Given the description of an element on the screen output the (x, y) to click on. 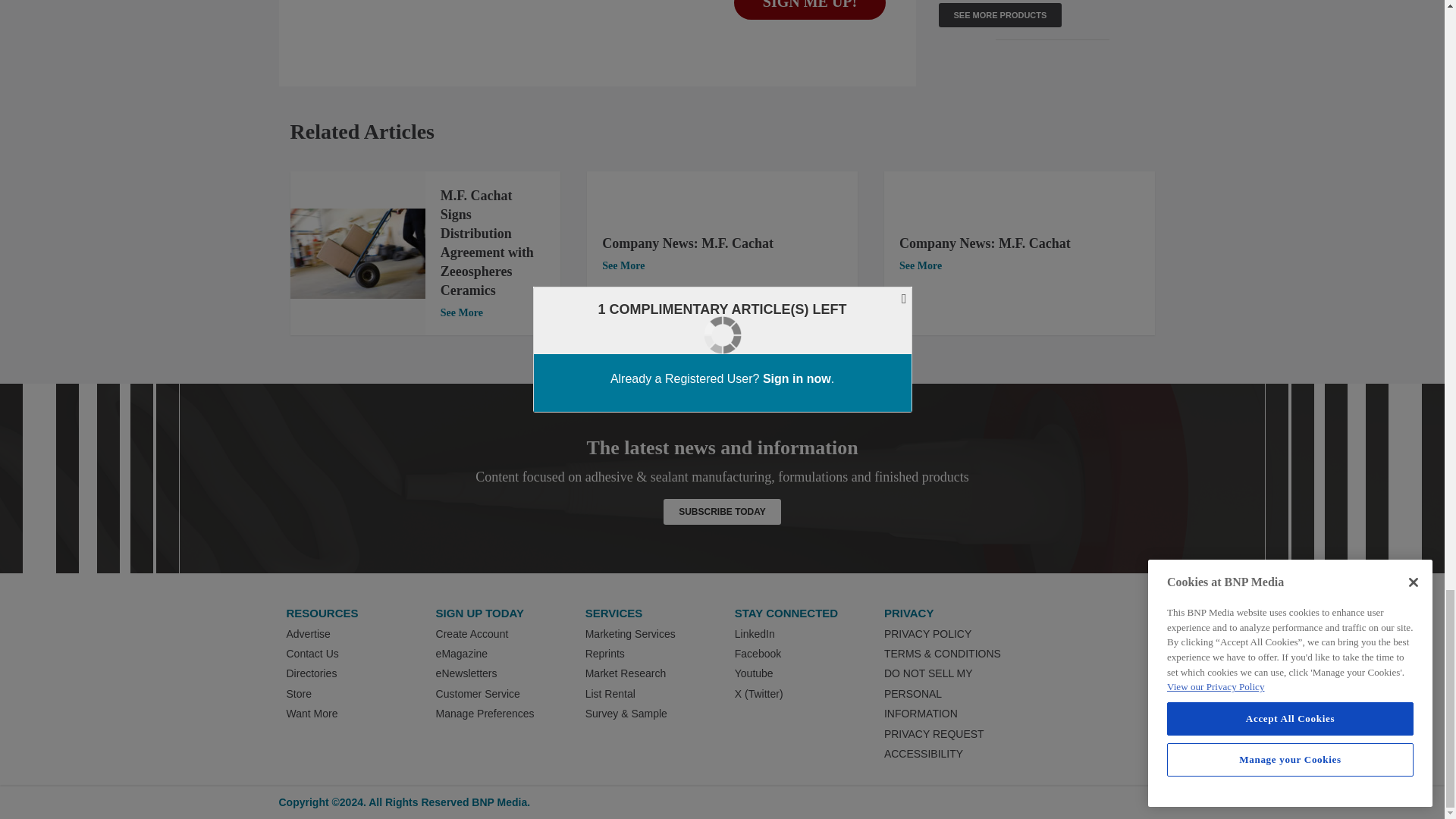
distributor (357, 253)
Interaction questions (597, 13)
